Given the description of an element on the screen output the (x, y) to click on. 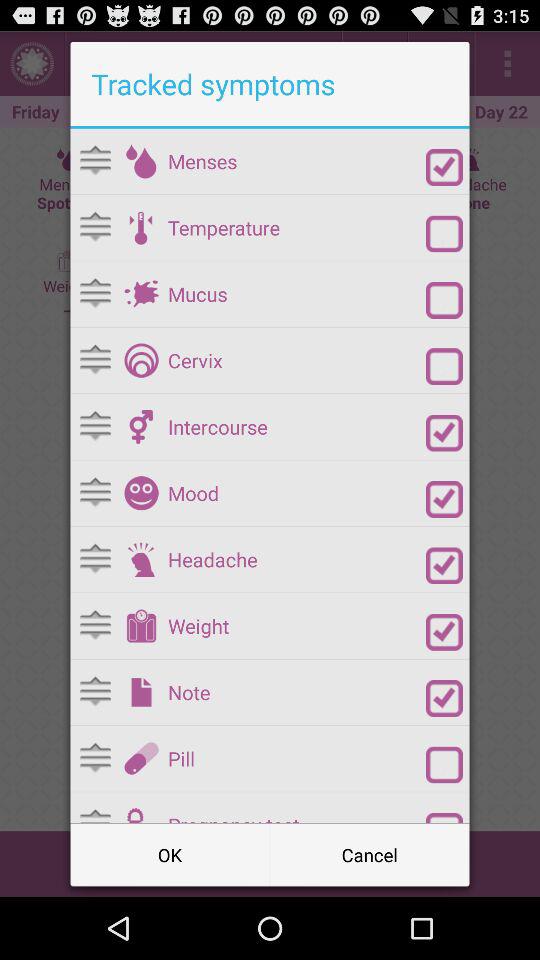
checkbox option (444, 233)
